Given the description of an element on the screen output the (x, y) to click on. 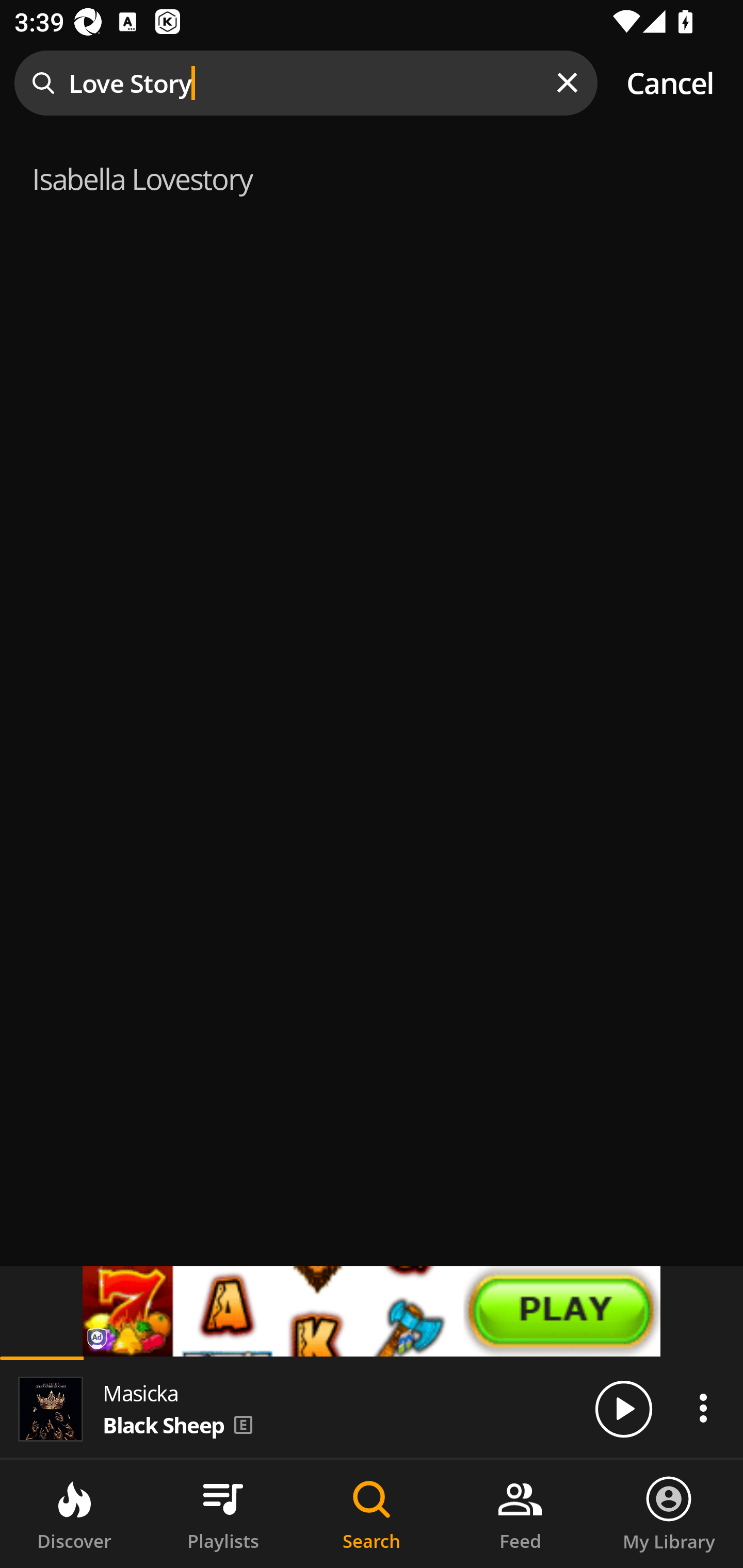
Love Story Cancel (371, 82)
Cancel (670, 82)
Isabella Lovestory (371, 176)
fsc (371, 1311)
Liftoff Privacy (97, 1339)
Actions (703, 1407)
Play/Pause (623, 1408)
Discover (74, 1513)
Playlists (222, 1513)
Search (371, 1513)
Feed (519, 1513)
My Library (668, 1513)
